Given the description of an element on the screen output the (x, y) to click on. 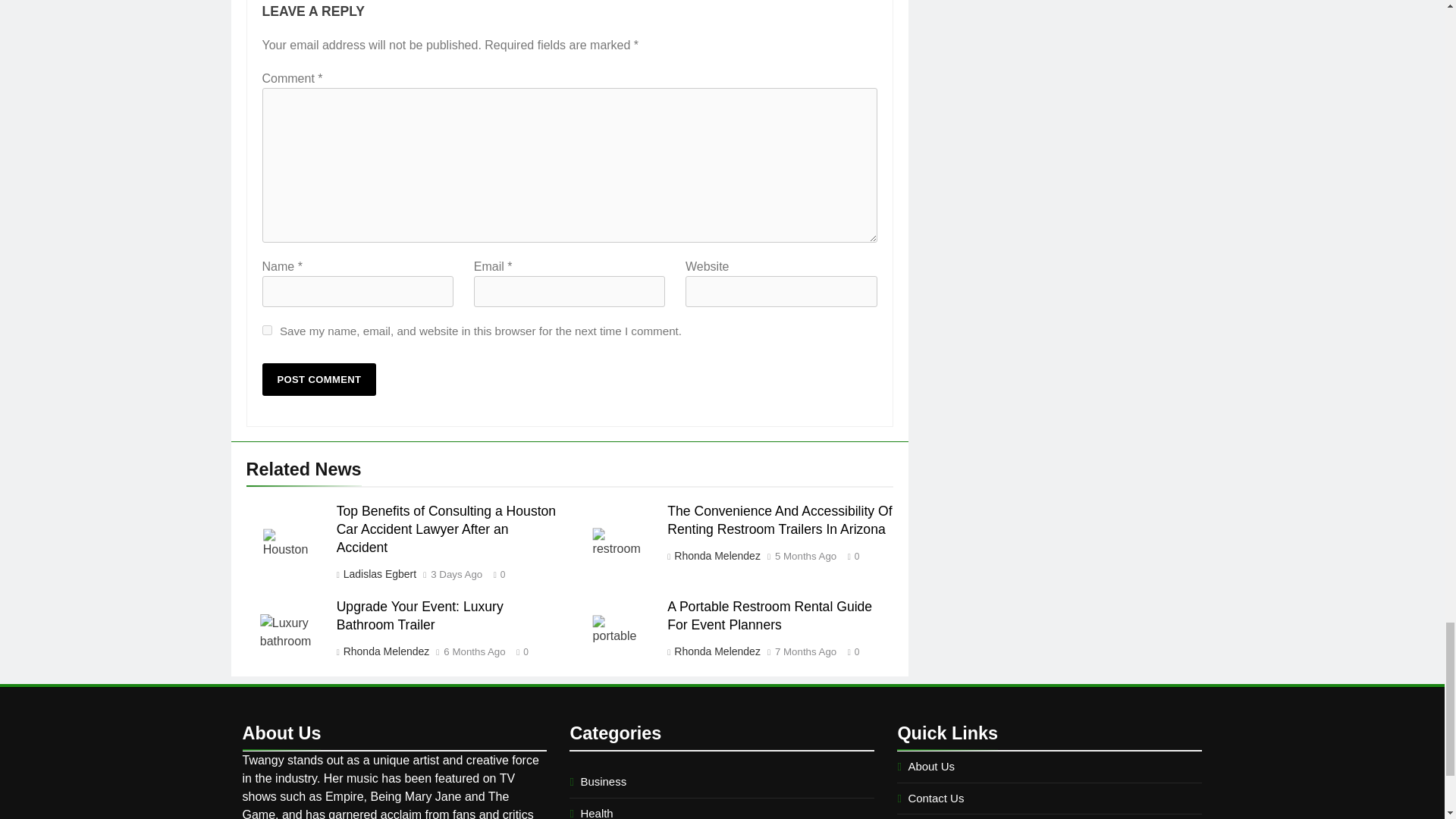
yes (267, 329)
Post Comment (319, 379)
